Given the description of an element on the screen output the (x, y) to click on. 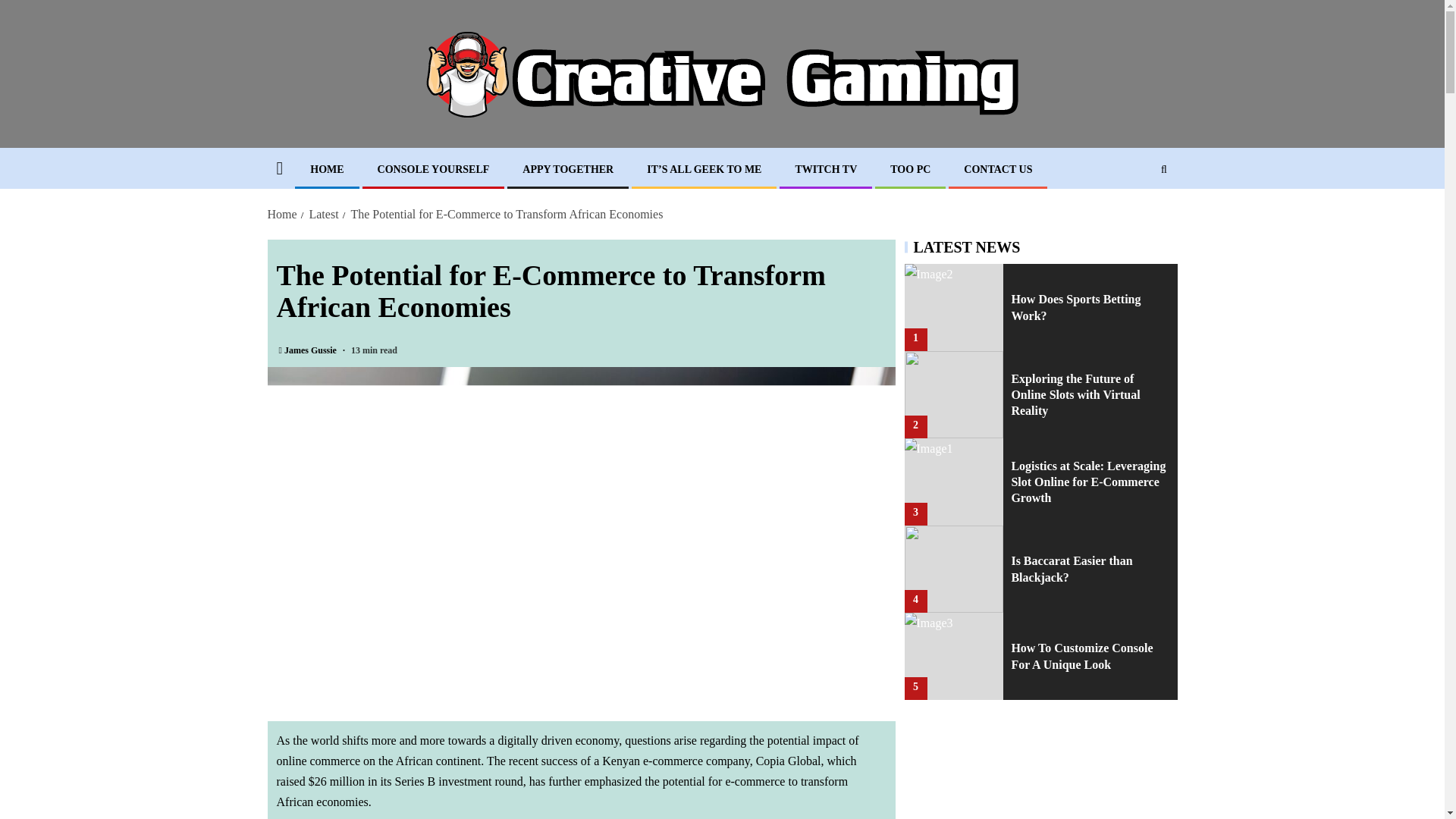
APPY TOGETHER (567, 169)
The Potential for E-Commerce to Transform African Economies (506, 214)
TOO PC (909, 169)
James Gussie (311, 349)
CONTACT US (997, 169)
Latest (322, 214)
Search (1133, 215)
CONSOLE YOURSELF (433, 169)
HOME (326, 169)
Home (281, 214)
TWITCH TV (825, 169)
